Given the description of an element on the screen output the (x, y) to click on. 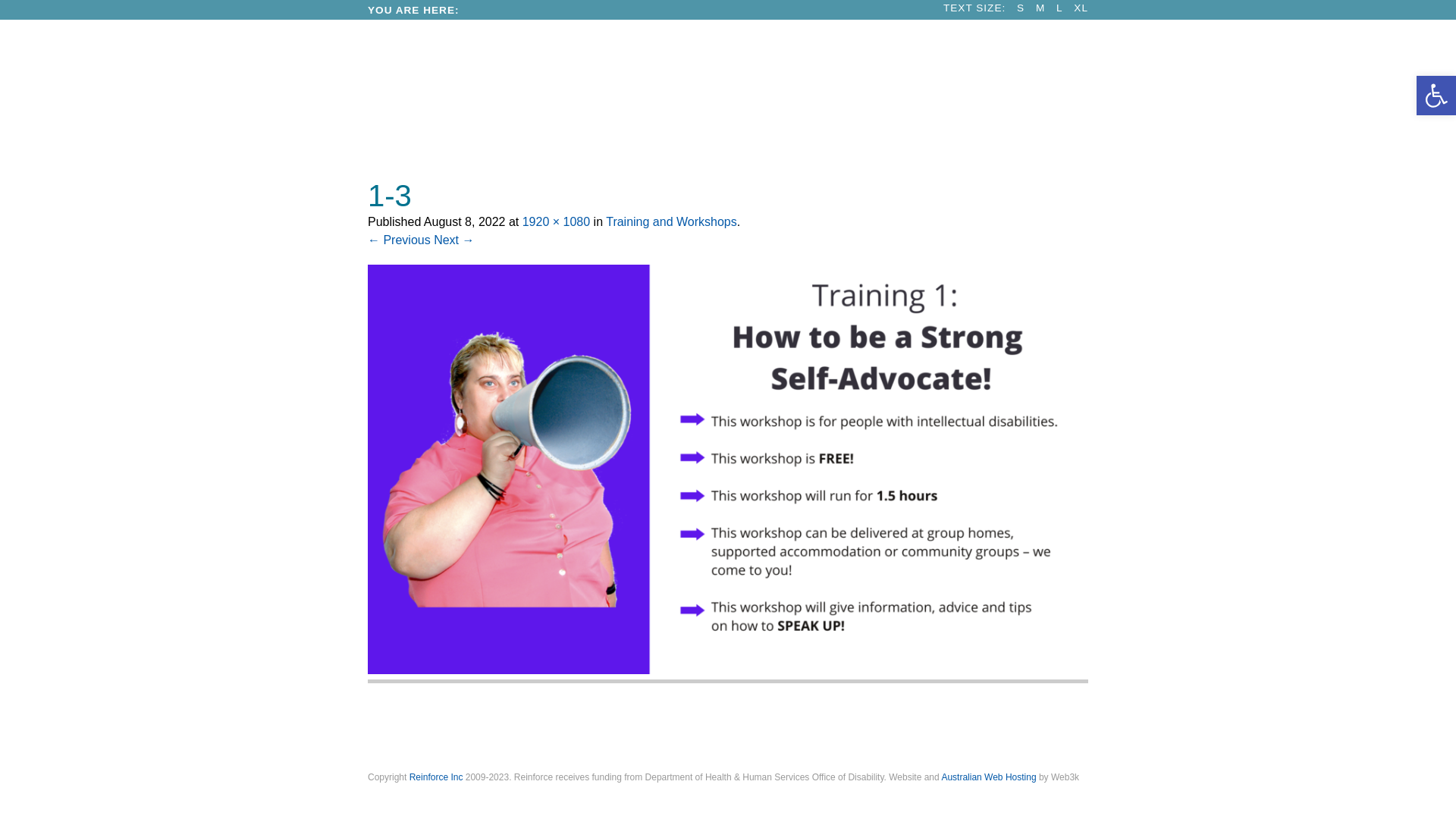
L Element type: text (1059, 7)
03 9650 7855 Element type: text (484, 732)
Find Reinforce Element type: text (959, 732)
1-3 Element type: hover (731, 669)
S Element type: text (1020, 7)
Send us an email message Element type: text (721, 732)
Reinforce Inc Element type: text (436, 776)
Training and Workshops Element type: text (671, 221)
Australian Web Hosting Element type: text (988, 776)
XL Element type: text (1080, 7)
M Element type: text (1039, 7)
